Given the description of an element on the screen output the (x, y) to click on. 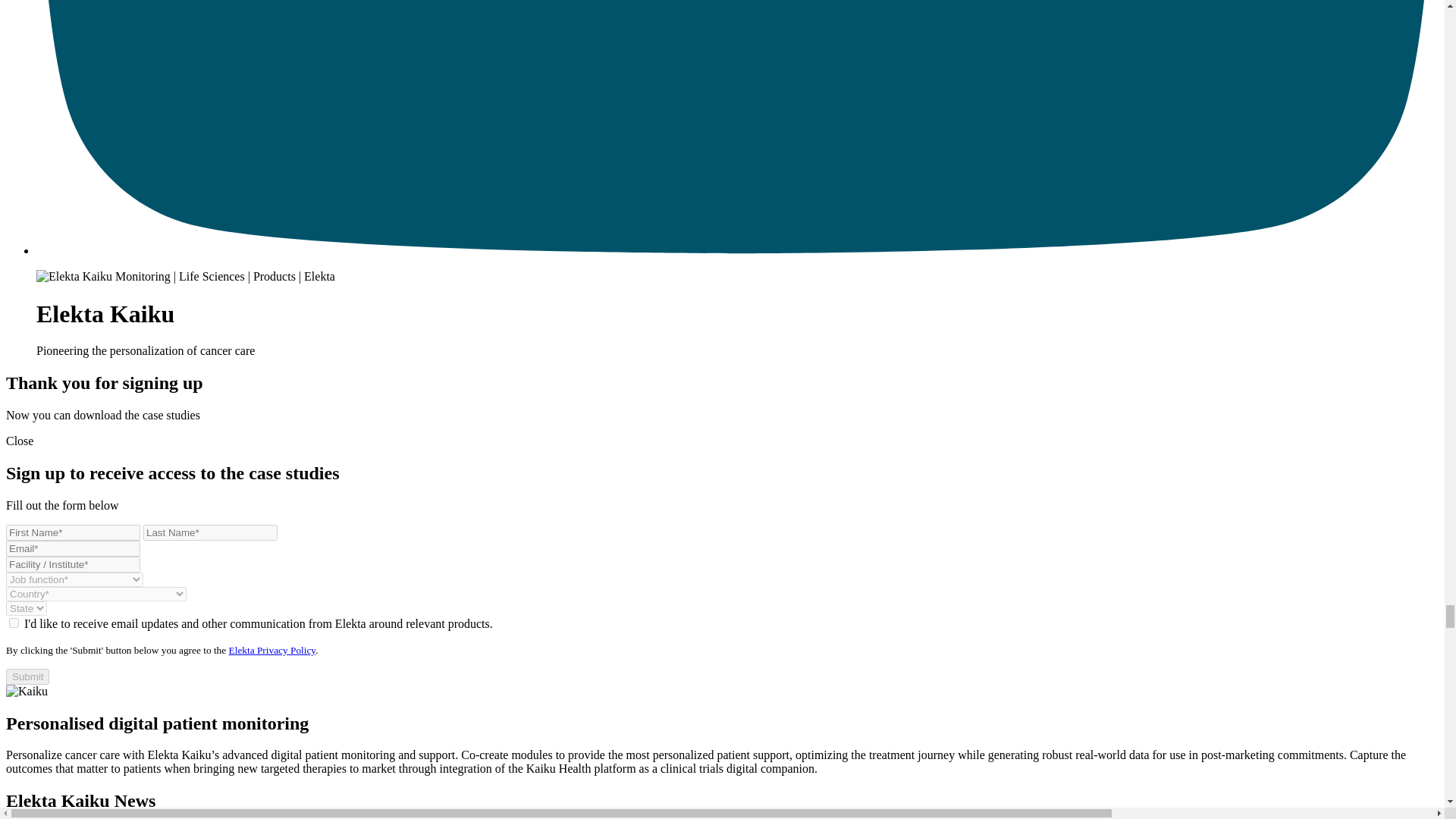
Last Name (210, 532)
true (13, 623)
First Name (72, 532)
Email (72, 548)
Job function (73, 579)
